Given the description of an element on the screen output the (x, y) to click on. 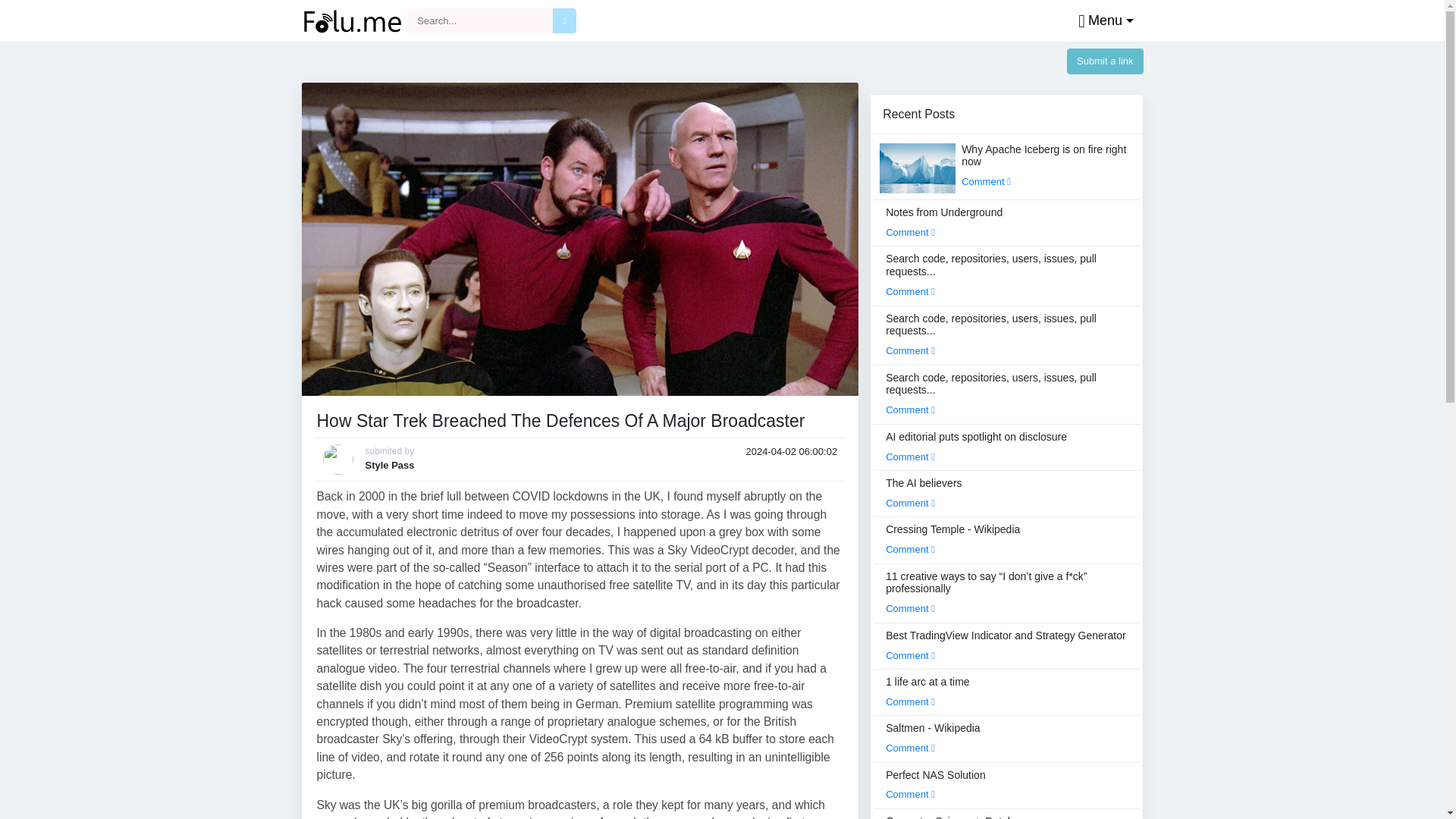
Menu (1101, 20)
Submit a link (1104, 61)
